Given the description of an element on the screen output the (x, y) to click on. 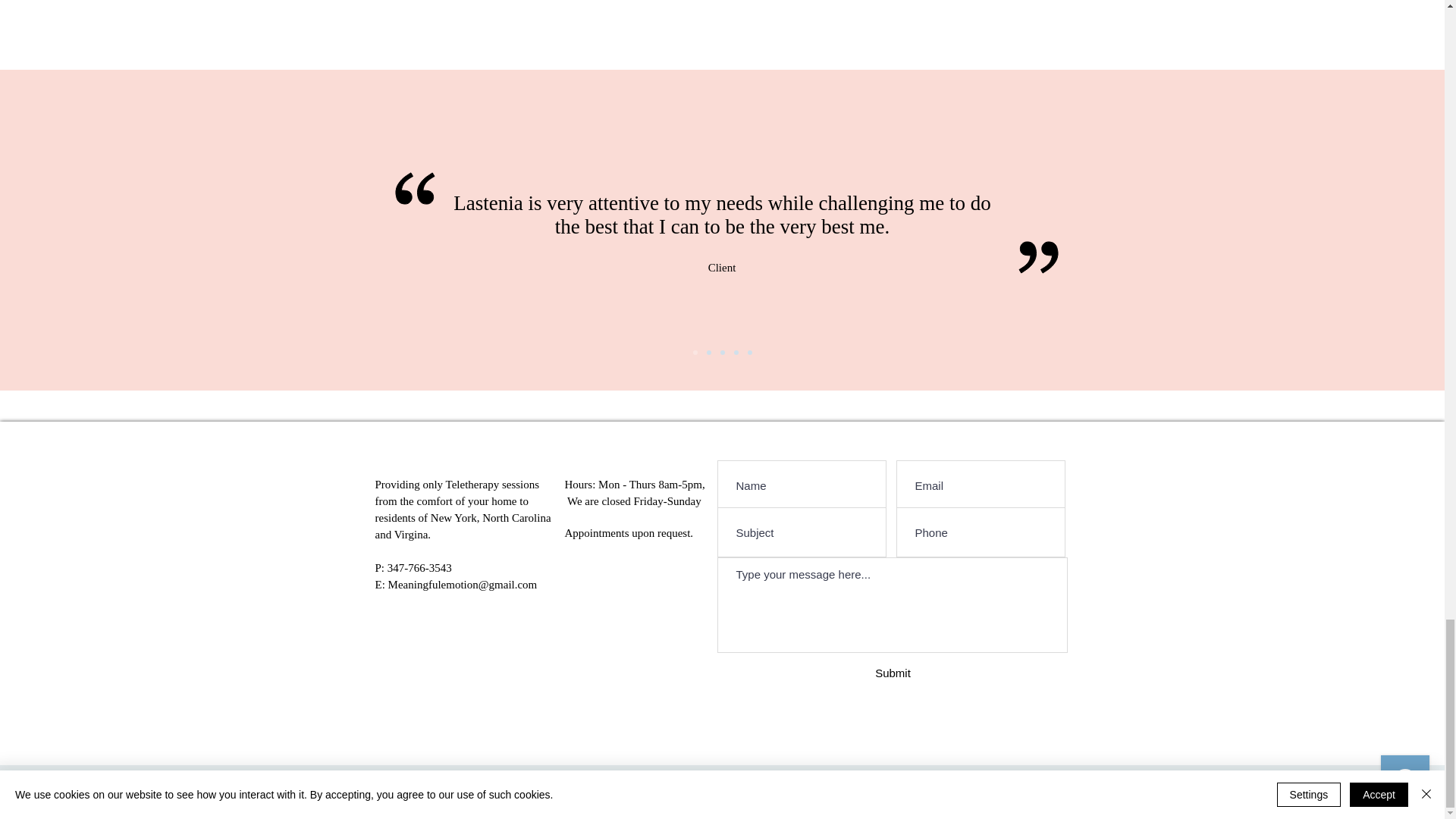
Submit (892, 672)
Instagram Feed (721, 24)
